Given the description of an element on the screen output the (x, y) to click on. 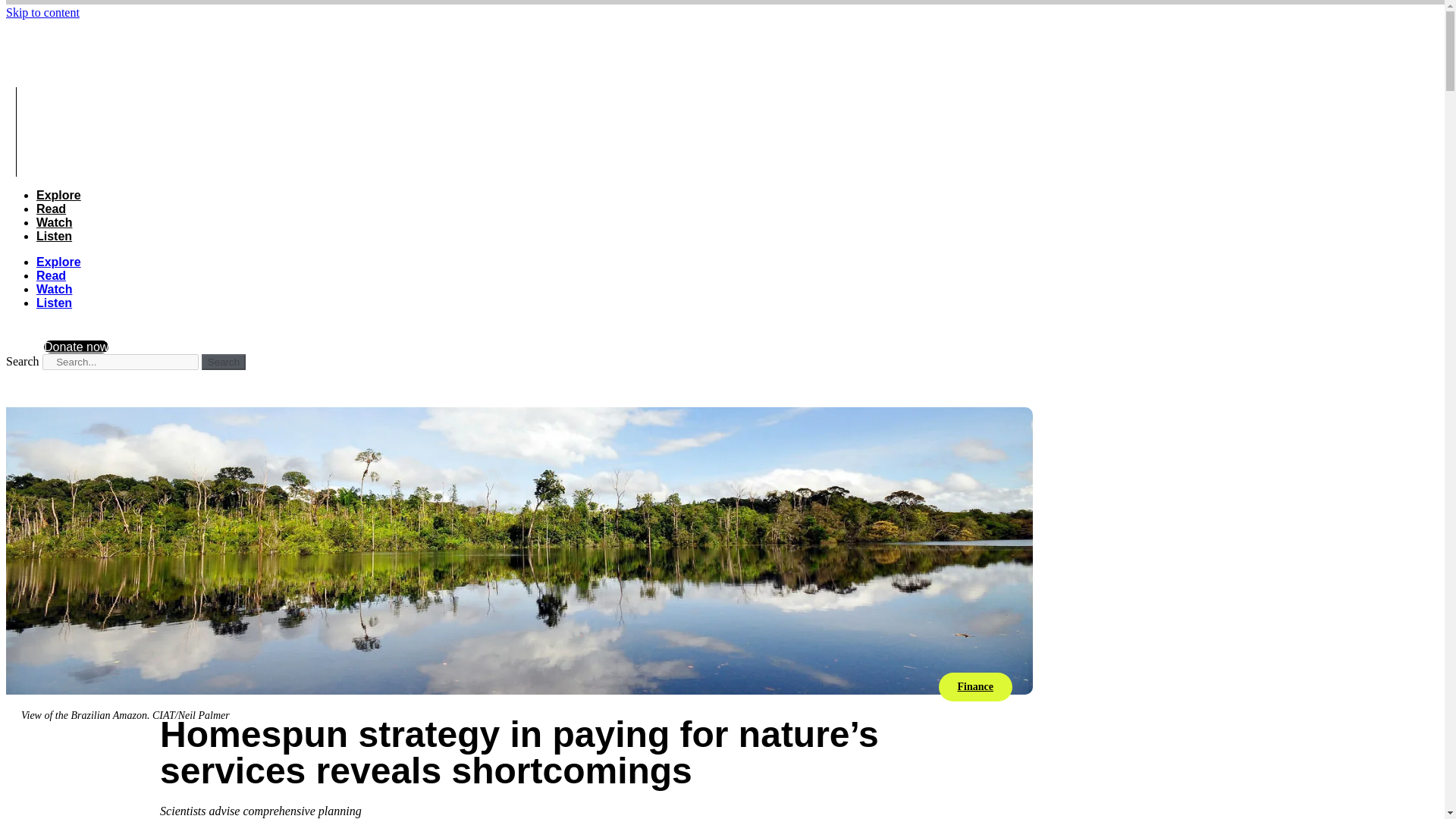
Read (50, 275)
Listen (53, 236)
Search (224, 361)
Finance (974, 686)
Listen (53, 302)
Watch (53, 288)
Skip to content (42, 11)
Explore (58, 195)
Explore (58, 261)
Read (50, 208)
Donate now (75, 346)
Watch (53, 222)
